Given the description of an element on the screen output the (x, y) to click on. 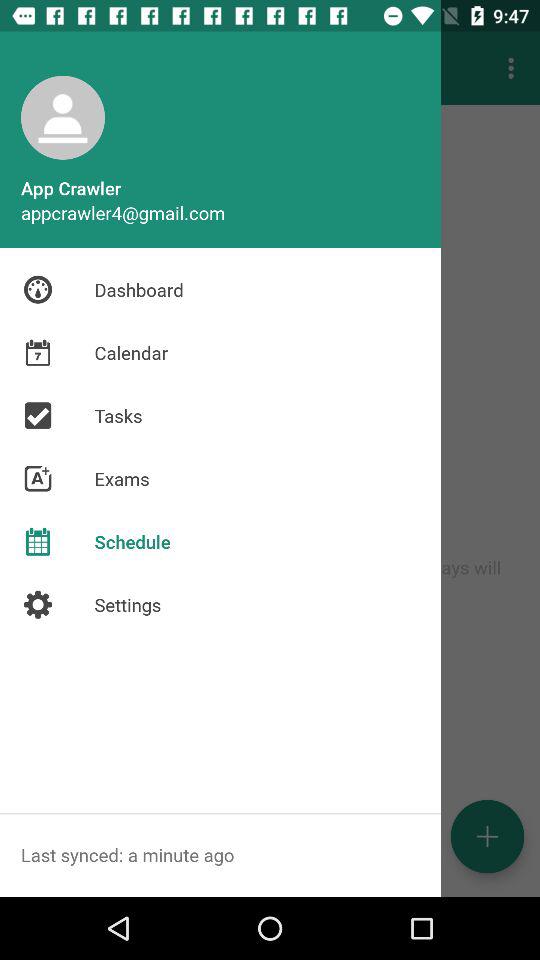
select the picture icon which is above the app crawler (62, 117)
select the user icon (62, 117)
select the icon beside the tasks (38, 415)
click on the fourth icon from the top (38, 478)
